Given the description of an element on the screen output the (x, y) to click on. 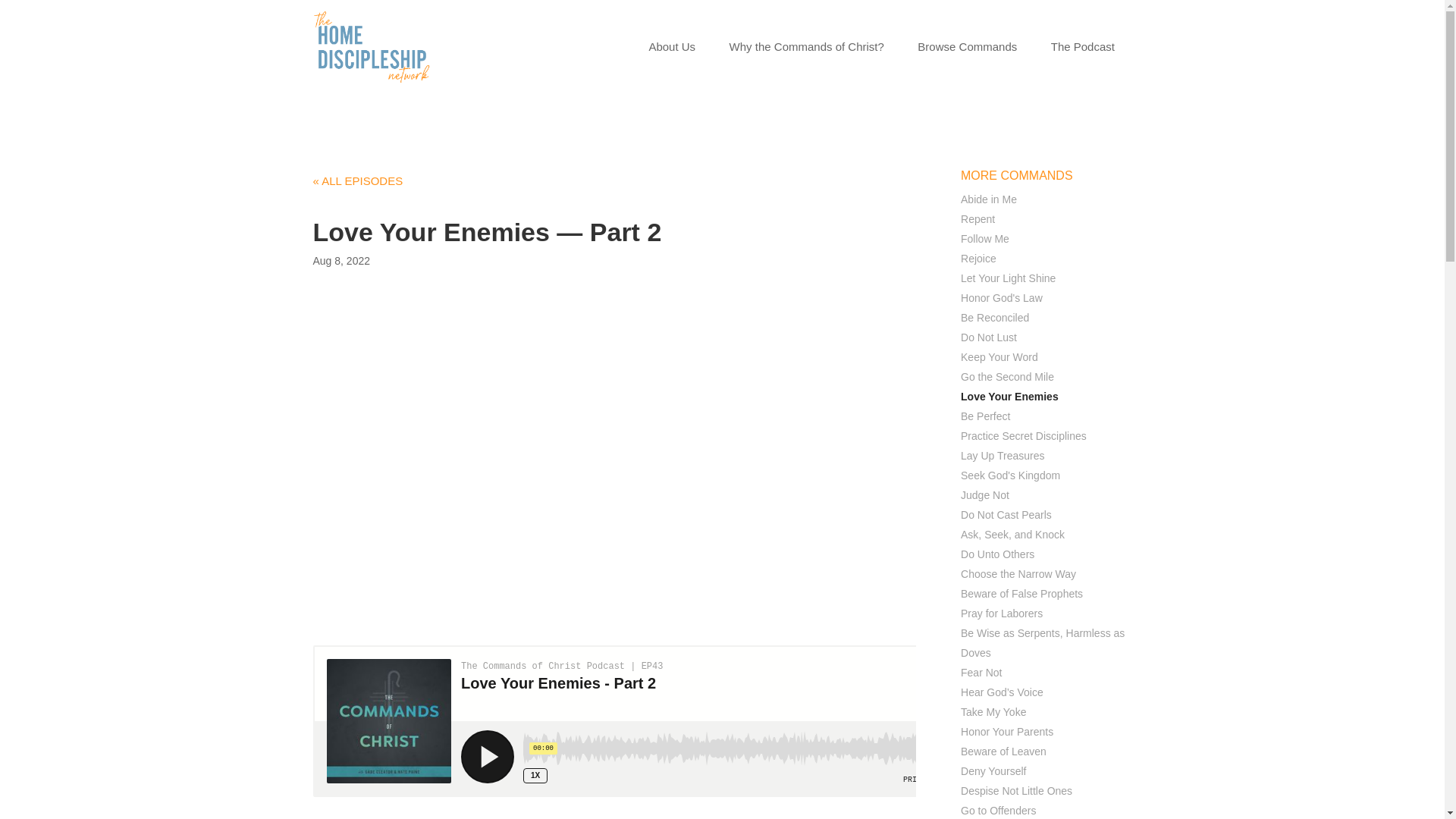
Go the Second Mile (1007, 377)
Be Reconciled (994, 317)
Group 1 (371, 46)
Love Your Enemies - Part 2 (614, 720)
Beware of Leaven (1003, 751)
Why the Commands of Christ? (806, 49)
Ask, Seek, and Knock (1012, 534)
Be Wise as Serpents, Harmless as Doves (1042, 643)
Do Not Lust (988, 337)
The Podcast (1083, 49)
Beware of False Prophets (1021, 593)
Follow Me (984, 238)
Honor Your Parents (1006, 731)
Do Not Cast Pearls (1005, 514)
Deny Yourself (993, 770)
